Given the description of an element on the screen output the (x, y) to click on. 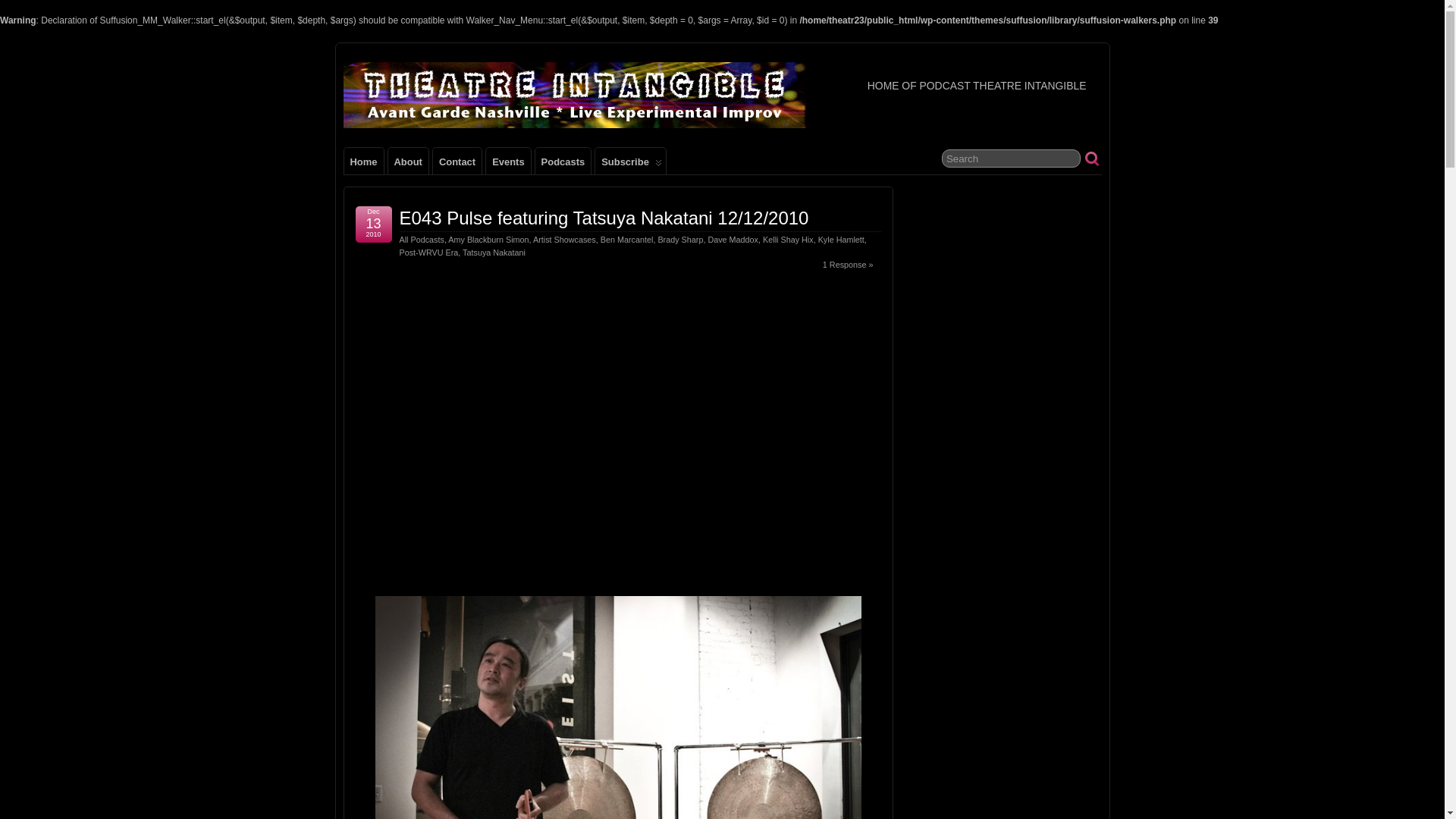
Dave Maddox (732, 239)
Kelli Shay Hix (787, 239)
Artist Showcases (563, 239)
Podcasts (563, 161)
Search (1011, 158)
All Podcasts (421, 239)
Kyle Hamlett (841, 239)
About (408, 161)
Amy Blackburn Simon (488, 239)
Home (363, 161)
 Subscribe (630, 161)
Search (1011, 158)
Contact (456, 161)
Brady Sharp (680, 239)
